Given the description of an element on the screen output the (x, y) to click on. 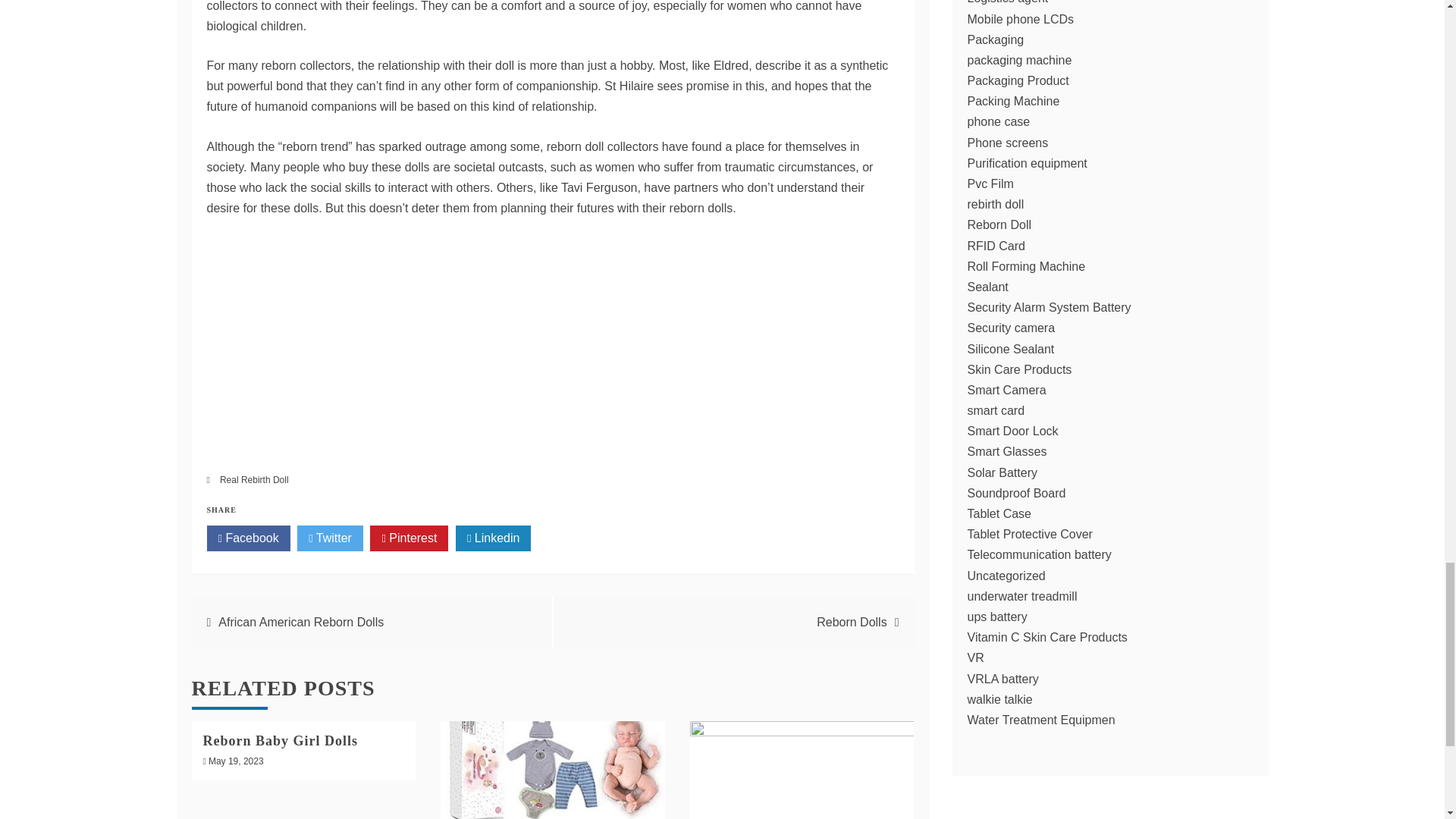
Reborn Baby Girl Dolls (280, 740)
May 19, 2023 (235, 760)
Twitter (329, 538)
African American Reborn Dolls (301, 621)
Linkedin (493, 538)
Facebook (247, 538)
Real Rebirth Doll (253, 480)
Pinterest (408, 538)
Reborn Dolls (851, 621)
